Given the description of an element on the screen output the (x, y) to click on. 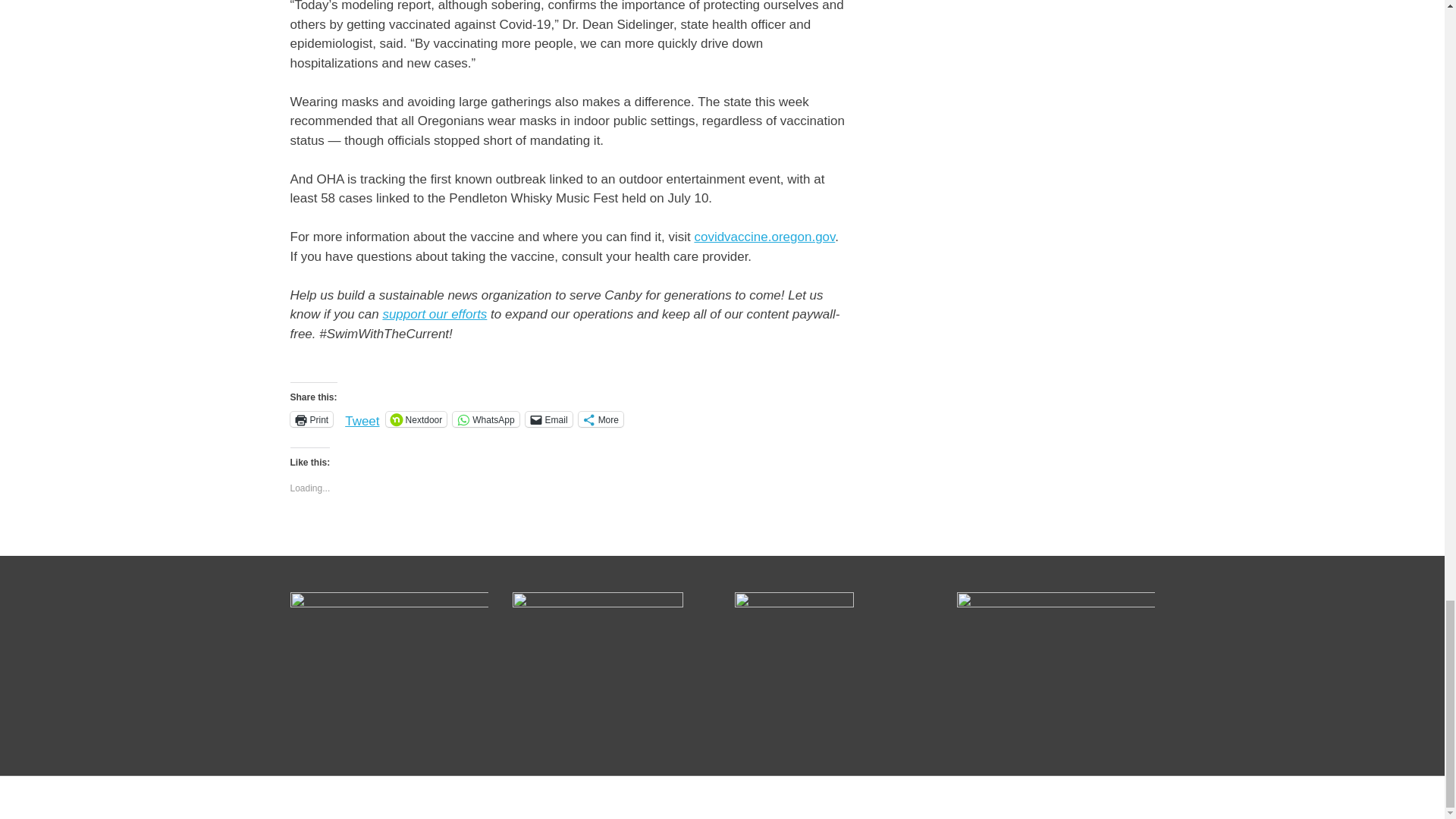
Click to share on WhatsApp (485, 418)
Click to email a link to a friend (548, 418)
Click to print (311, 418)
Click to share on Nextdoor (415, 418)
